Given the description of an element on the screen output the (x, y) to click on. 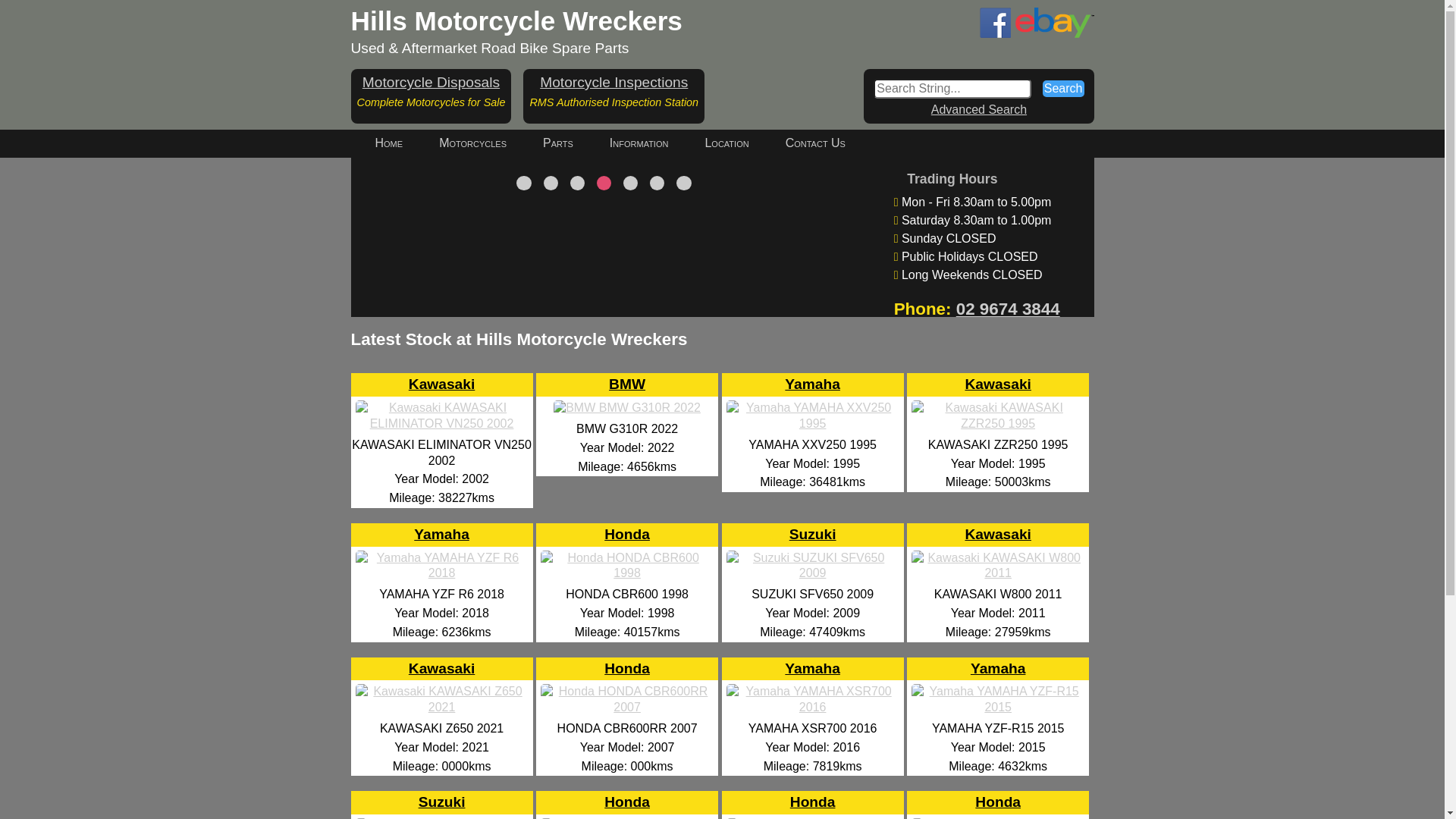
Kawasaki Element type: text (997, 409)
Yamaha YAMAHA XSR700  2016 Element type: hover (812, 706)
Home Element type: text (388, 143)
Yamaha Element type: text (441, 559)
Kawasaki KAWASAKI  Z650    2021 Element type: hover (441, 706)
Parts Element type: text (557, 143)
BMW Element type: text (626, 409)
Yamaha Element type: text (812, 409)
Kawasaki KAWASAKI  W800  2011 Element type: hover (997, 572)
Yamaha Element type: text (998, 668)
Honda HONDA  CBR600  1998 Element type: hover (626, 572)
Search Element type: text (1063, 88)
Kawasaki KAWASAKI ZZR250  1995 Element type: hover (997, 423)
1 Element type: text (523, 330)
Motorcycles Element type: text (472, 143)
4 Element type: text (603, 330)
Suzuki Element type: text (812, 559)
Information Element type: text (639, 143)
Yamaha YAMAHA   YZF-R15  2015 Element type: hover (997, 706)
Honda Element type: text (626, 801)
Honda Element type: text (626, 559)
Location Element type: text (726, 143)
Kawasaki Element type: text (997, 559)
Yamaha YAMAHA  XXV250  1995   Element type: hover (812, 423)
Suzuki Element type: text (441, 801)
02 9674 3844 Element type: text (1008, 308)
Yamaha YAMAHA   YZF R6  2018 Element type: hover (441, 572)
Motorcycle Inspections Element type: text (613, 82)
6 Element type: text (656, 330)
Motorcycle Disposals Element type: text (430, 82)
7 Element type: text (683, 330)
Contact Us Element type: text (815, 143)
Honda Element type: text (997, 801)
Honda HONDA   CBR600RR   2007 Element type: hover (626, 706)
Honda Element type: text (626, 693)
Kawasaki KAWASAKI  ELIMINATOR  VN250  2002 Element type: hover (441, 423)
2 Element type: text (550, 330)
Kawasaki Element type: text (441, 693)
5 Element type: text (630, 330)
Yamaha Element type: text (812, 682)
3 Element type: text (577, 330)
Advanced Search Element type: text (978, 109)
Honda Element type: text (812, 801)
Suzuki SUZUKI  SFV650   2009 Element type: hover (812, 572)
Kawasaki Element type: text (441, 409)
BMW BMW  G310R  2022 Element type: hover (626, 407)
